Given the description of an element on the screen output the (x, y) to click on. 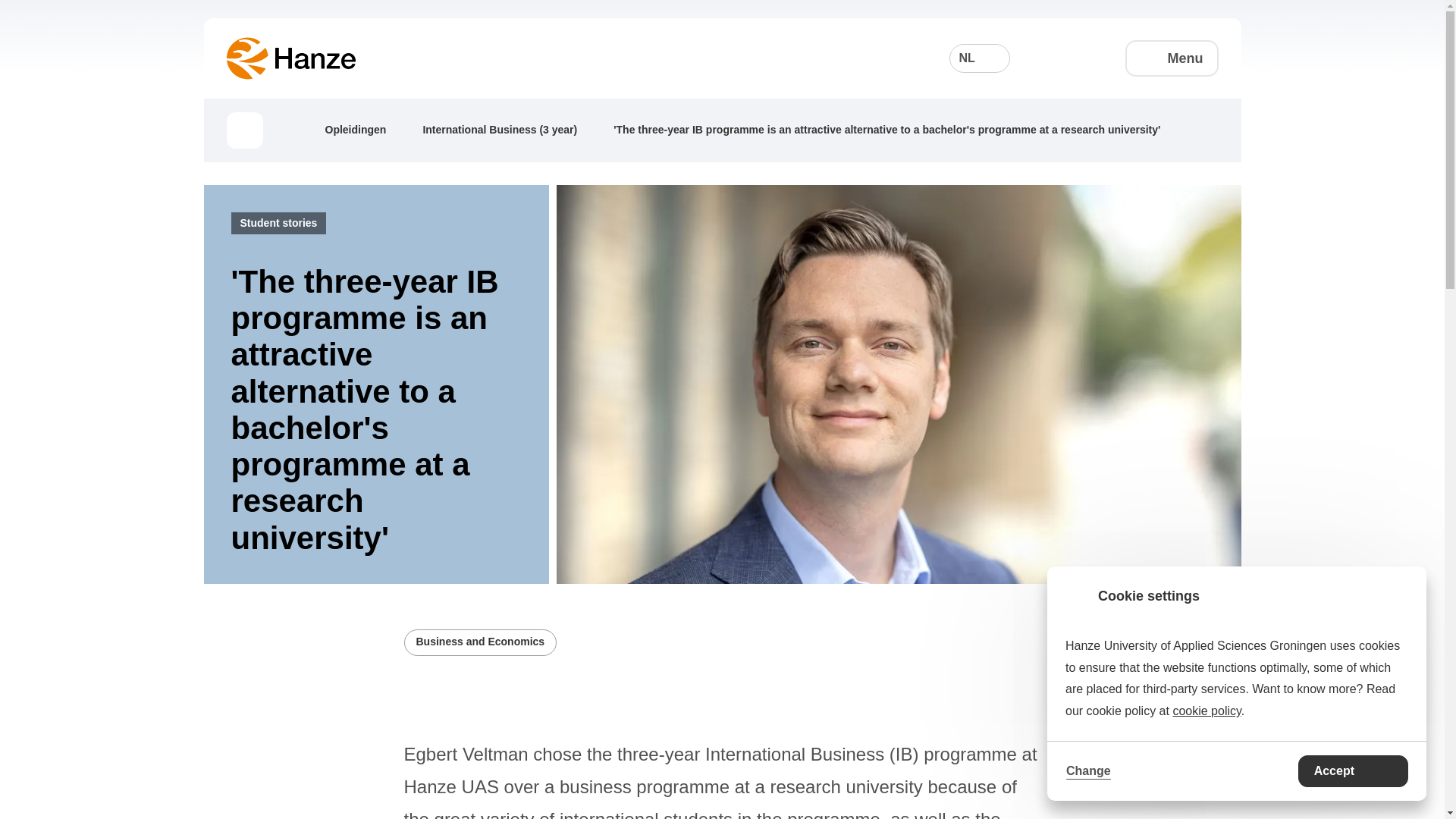
NL (979, 58)
Menu (1171, 58)
My Hanze (1089, 57)
